Given the description of an element on the screen output the (x, y) to click on. 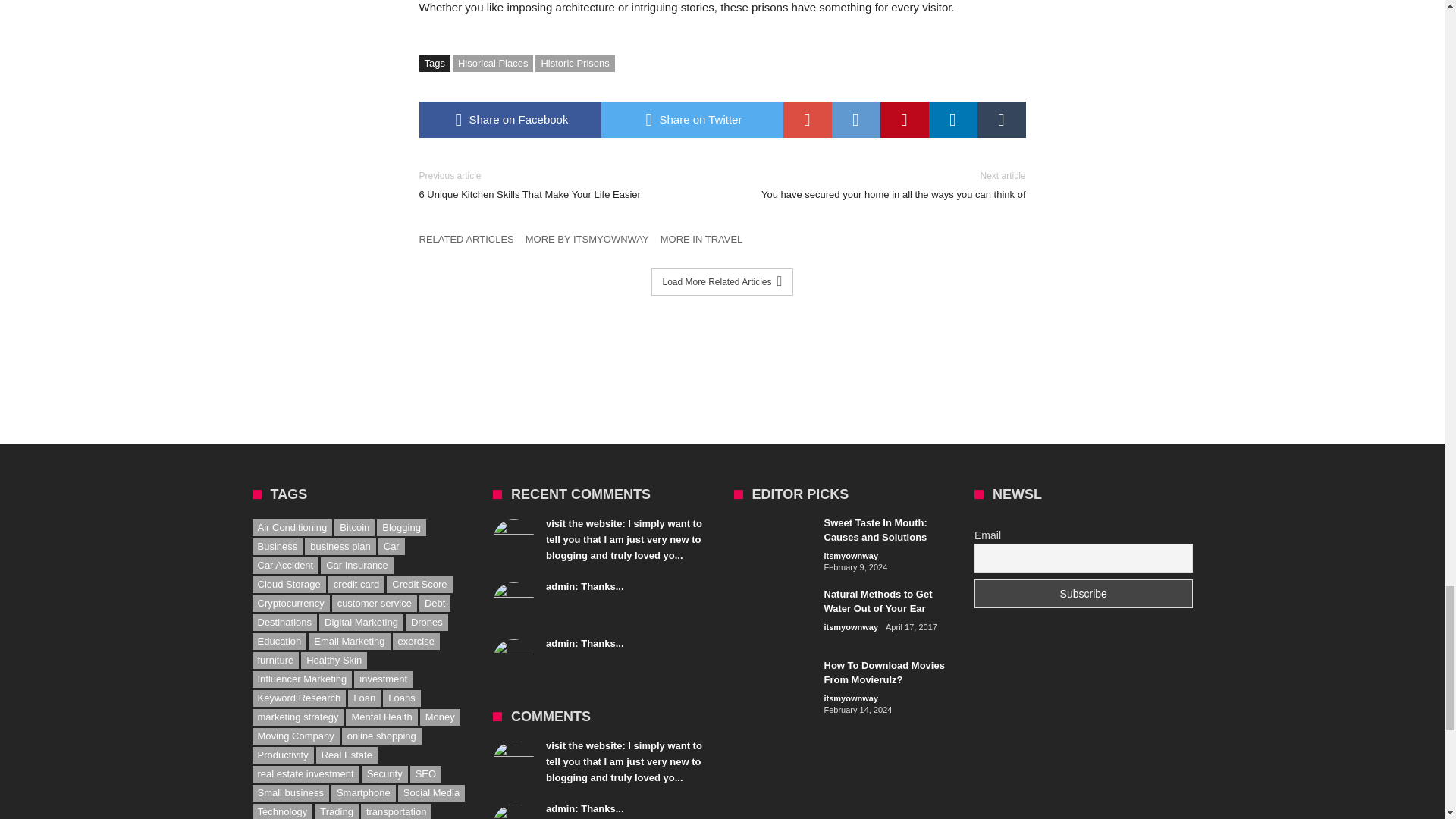
Subscribe (1083, 593)
